Given the description of an element on the screen output the (x, y) to click on. 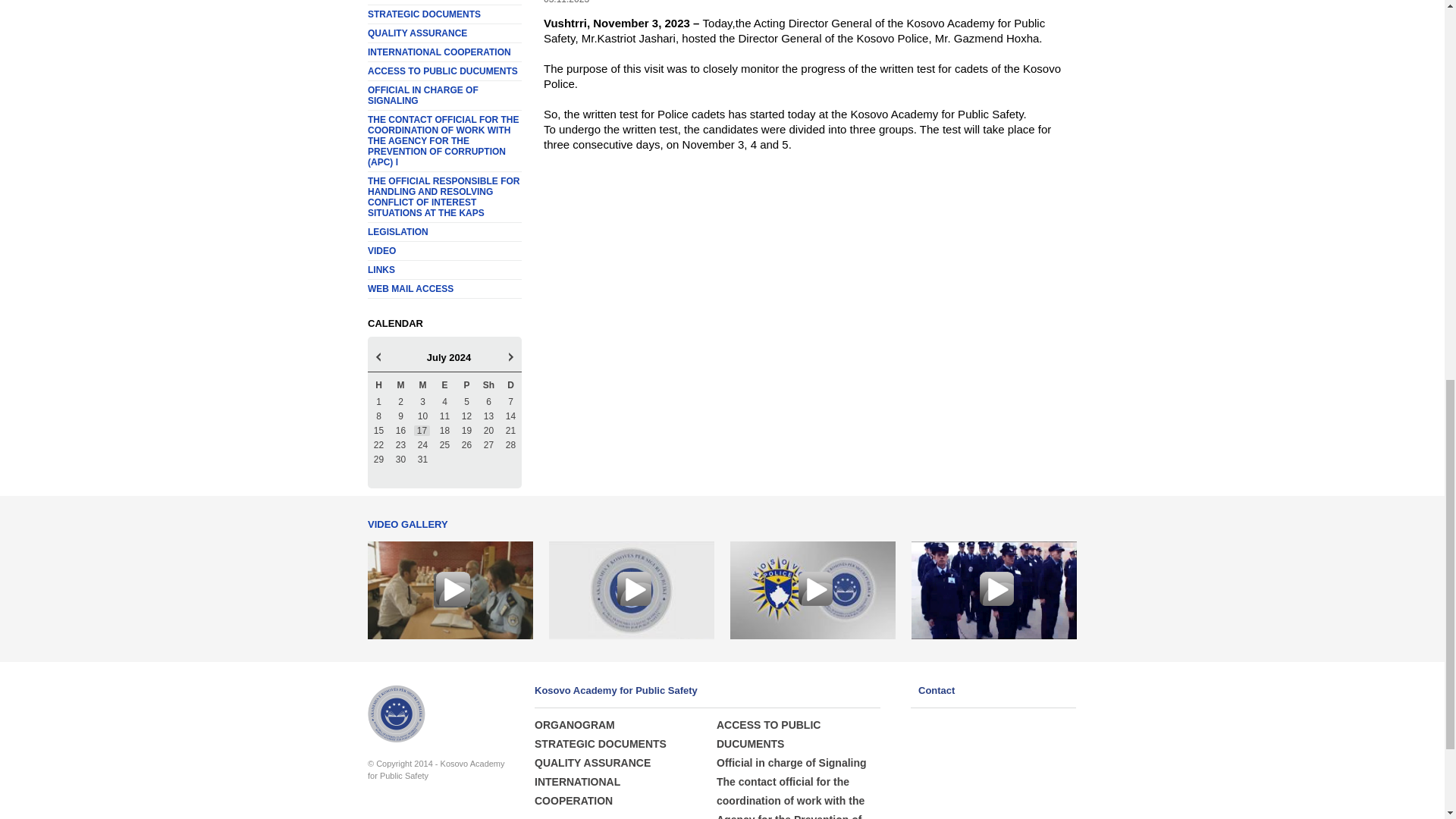
ORGANOGRAM (444, 2)
